Given the description of an element on the screen output the (x, y) to click on. 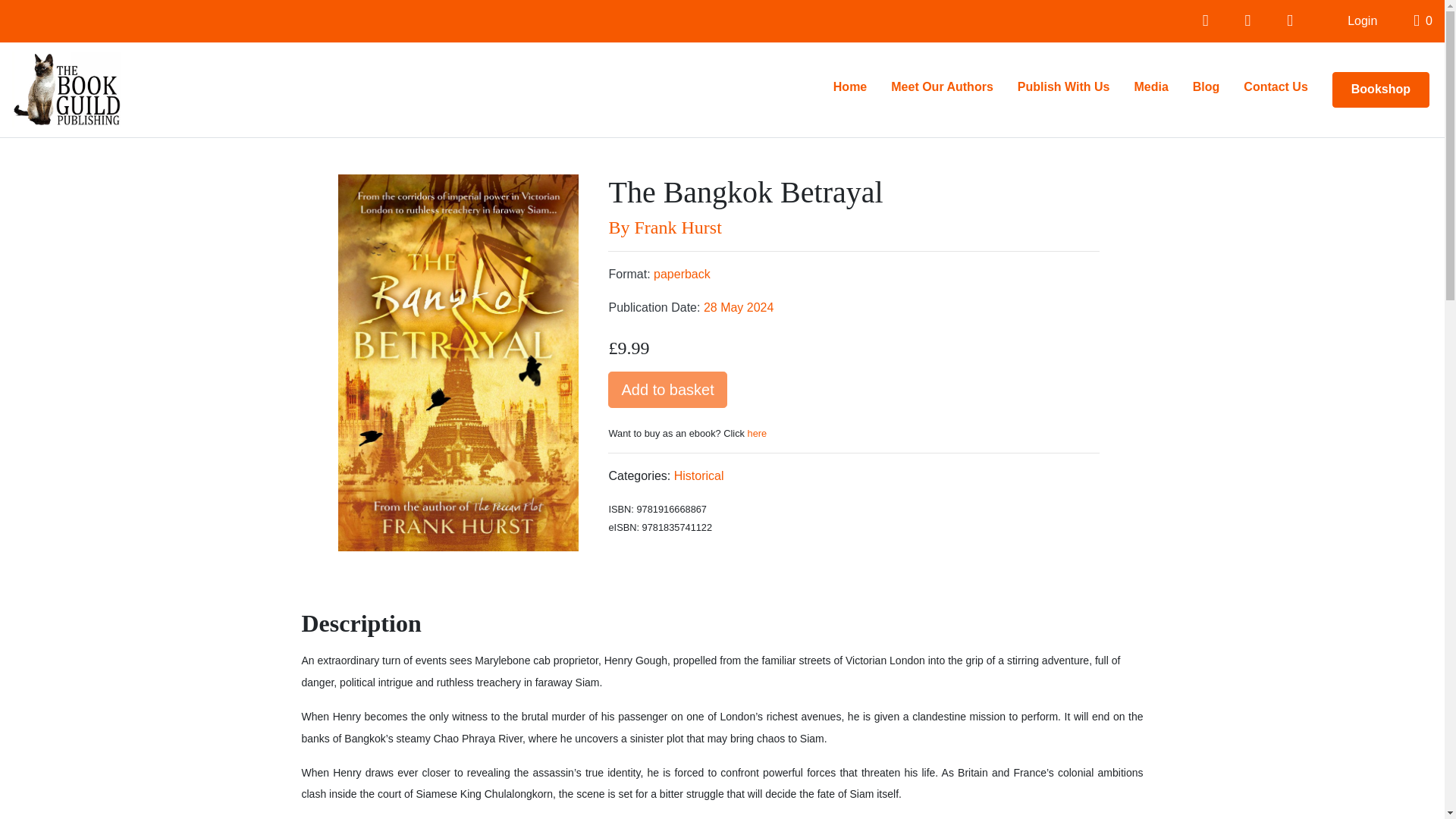
Login (1361, 20)
Contact Us (1275, 87)
Media (1149, 87)
Add to basket (667, 389)
By Frank Hurst (853, 228)
Bookshop (1380, 89)
Meet Our Authors (941, 87)
Publish With Us (1063, 87)
here (757, 432)
Blog (1205, 87)
